Given the description of an element on the screen output the (x, y) to click on. 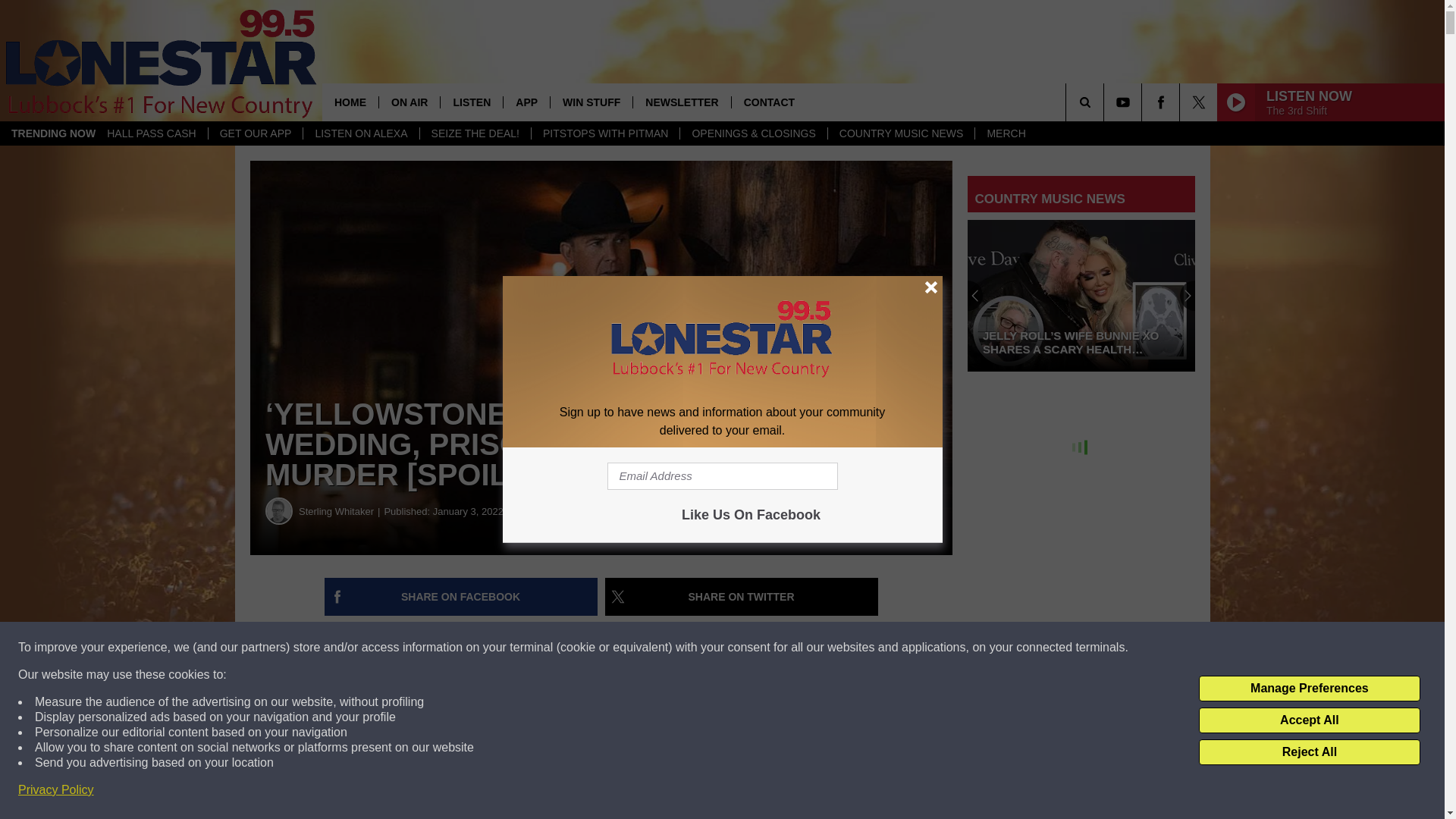
HALL PASS CASH (152, 133)
Privacy Policy (55, 789)
Share on Facebook (460, 596)
SEARCH (1106, 102)
MERCH (1005, 133)
ON AIR (408, 102)
Manage Preferences (1309, 688)
COUNTRY MUSIC NEWS (901, 133)
SEIZE THE DEAL! (475, 133)
WIN STUFF (590, 102)
HOME (349, 102)
LISTEN (470, 102)
Reject All (1309, 751)
LISTEN ON ALEXA (360, 133)
APP (526, 102)
